Given the description of an element on the screen output the (x, y) to click on. 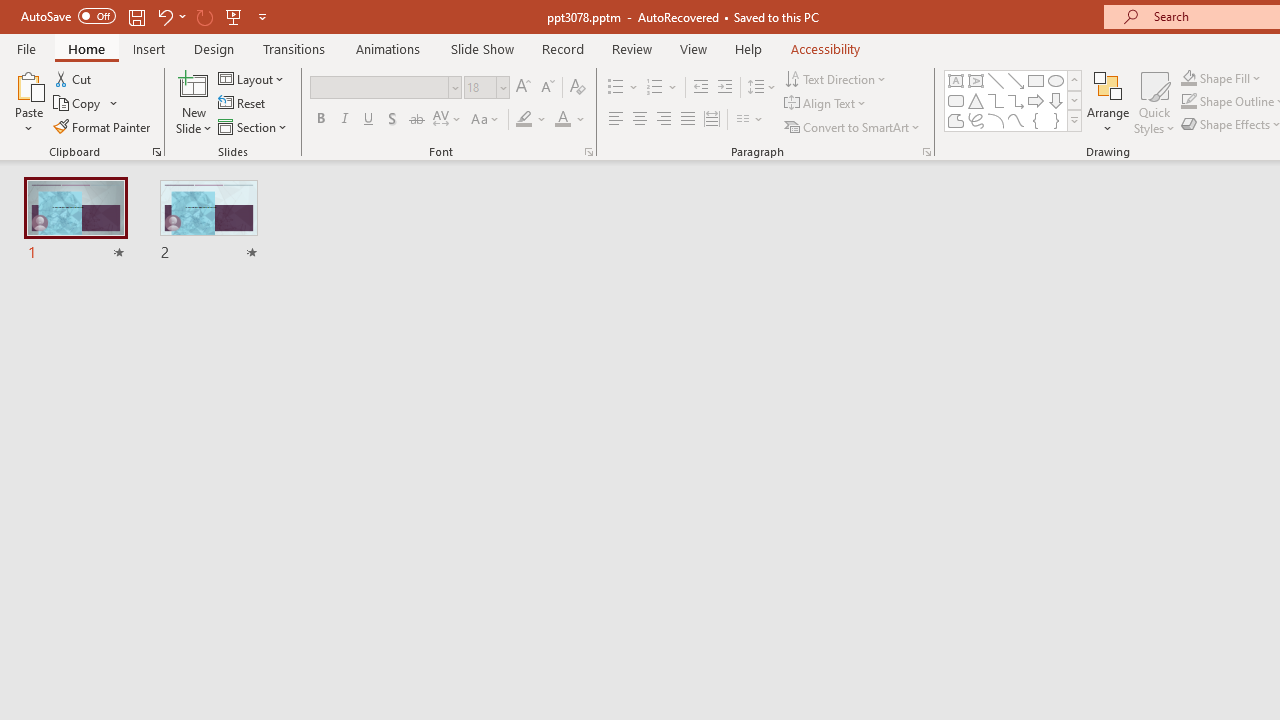
Quick Styles (1154, 102)
Curve (1016, 120)
Rectangle: Rounded Corners (955, 100)
Columns (750, 119)
Increase Font Size (522, 87)
Vertical Text Box (975, 80)
Arrow: Down (1055, 100)
Change Case (486, 119)
Right Brace (1055, 120)
